Given the description of an element on the screen output the (x, y) to click on. 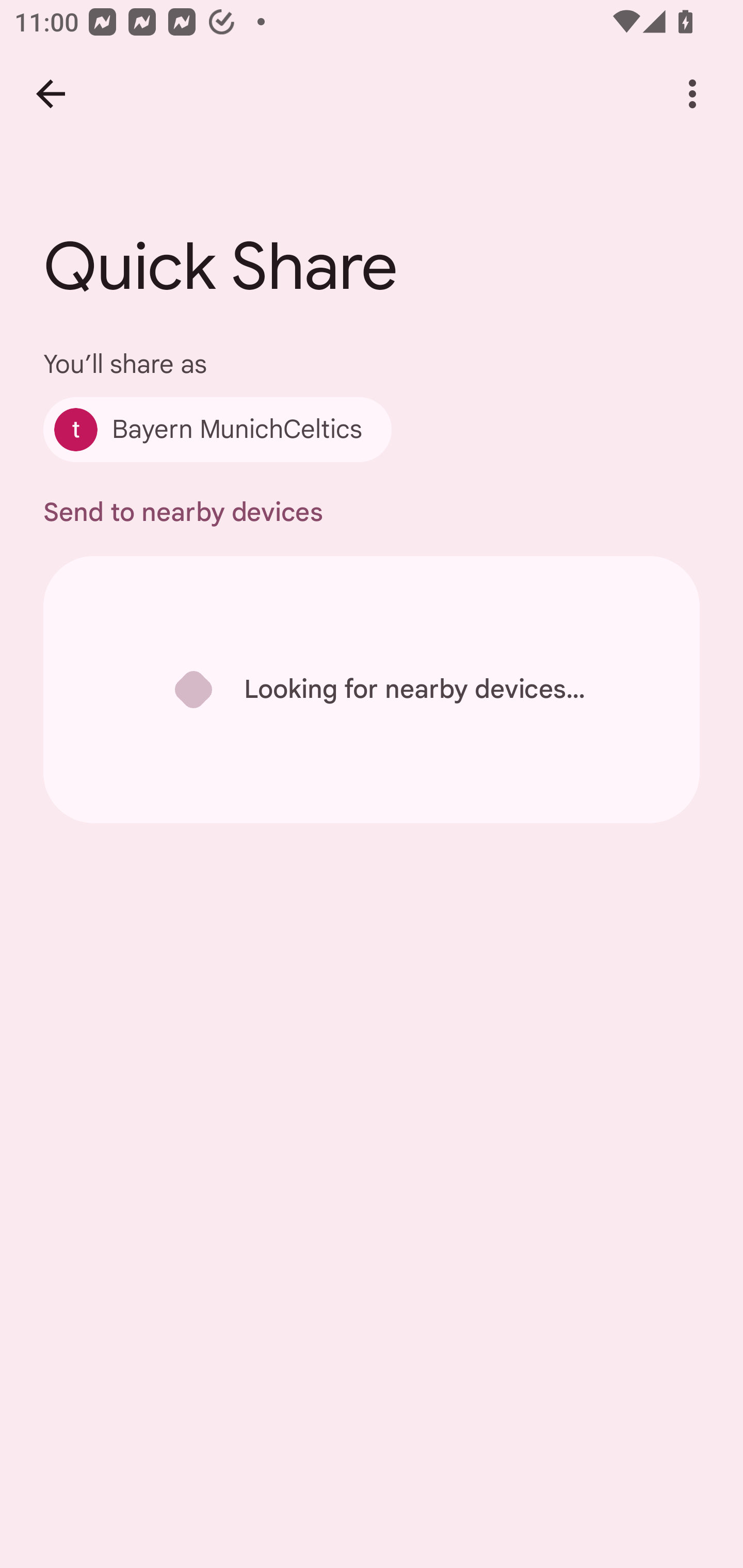
Back (50, 93)
More (692, 93)
Bayern MunichCeltics (217, 429)
